Given the description of an element on the screen output the (x, y) to click on. 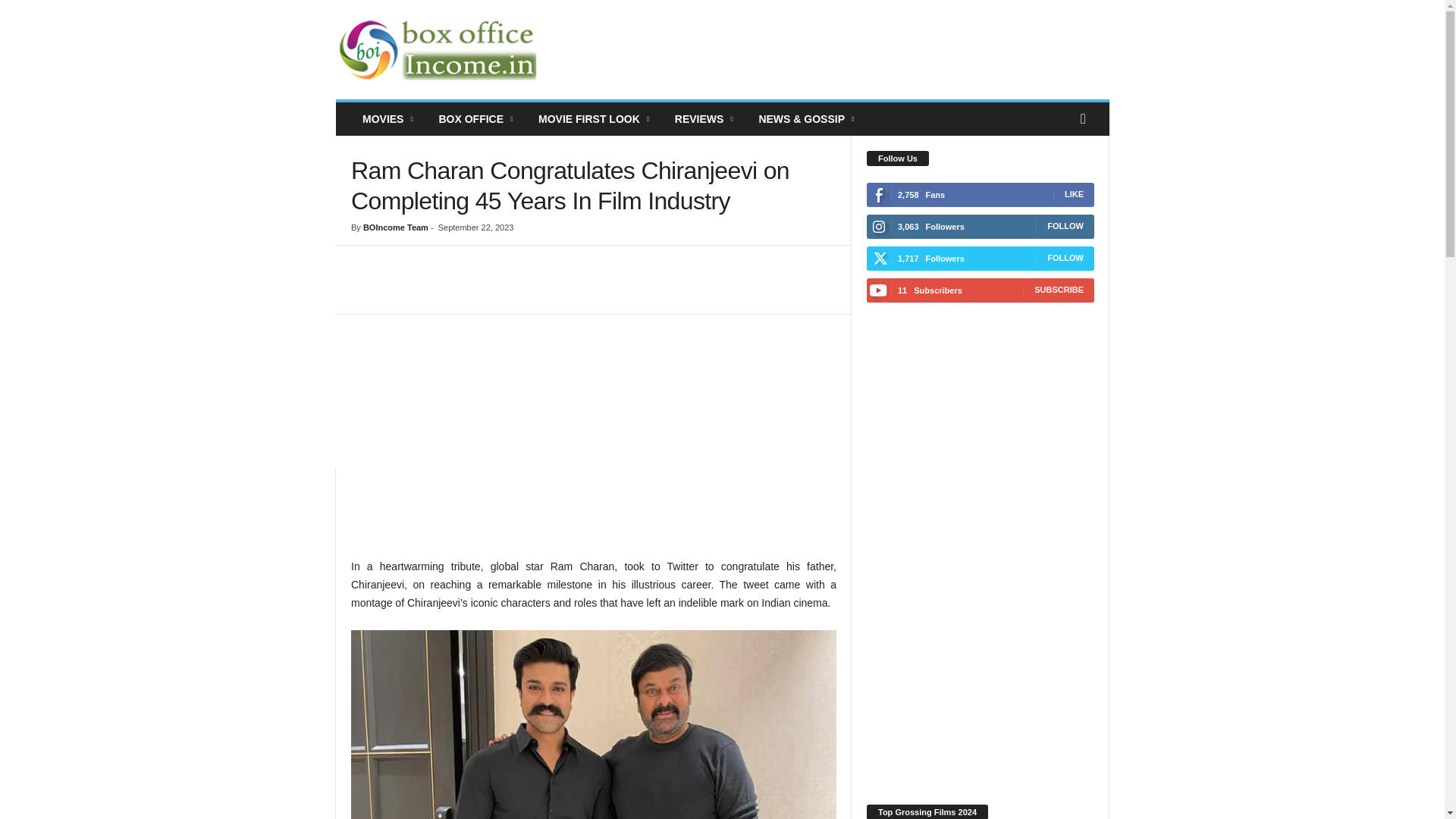
topFacebookLike (390, 261)
MOVIES (388, 118)
MOVIE FIRST LOOK (595, 118)
REVIEWS (705, 118)
BOX OFFICE (476, 118)
Advertisement (592, 443)
